Given the description of an element on the screen output the (x, y) to click on. 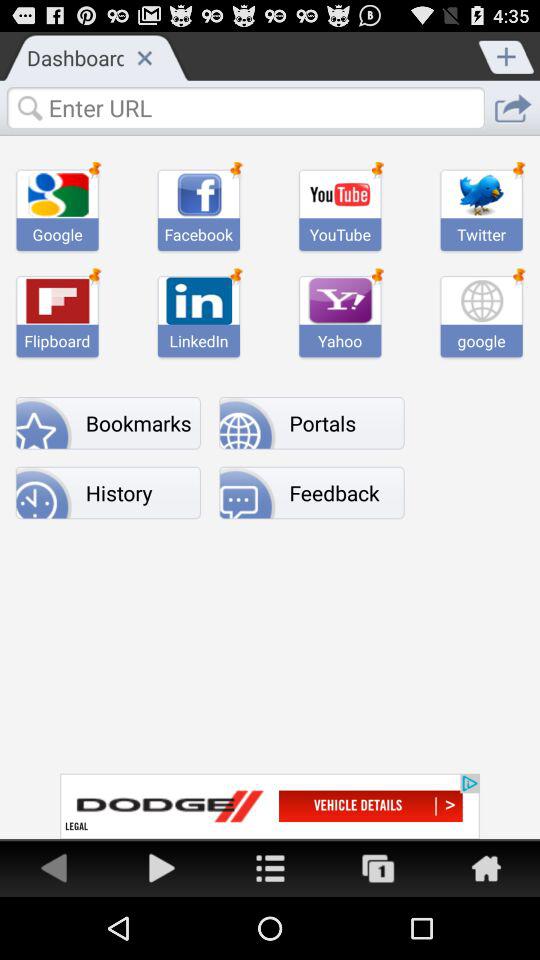
add tab option (507, 55)
